Given the description of an element on the screen output the (x, y) to click on. 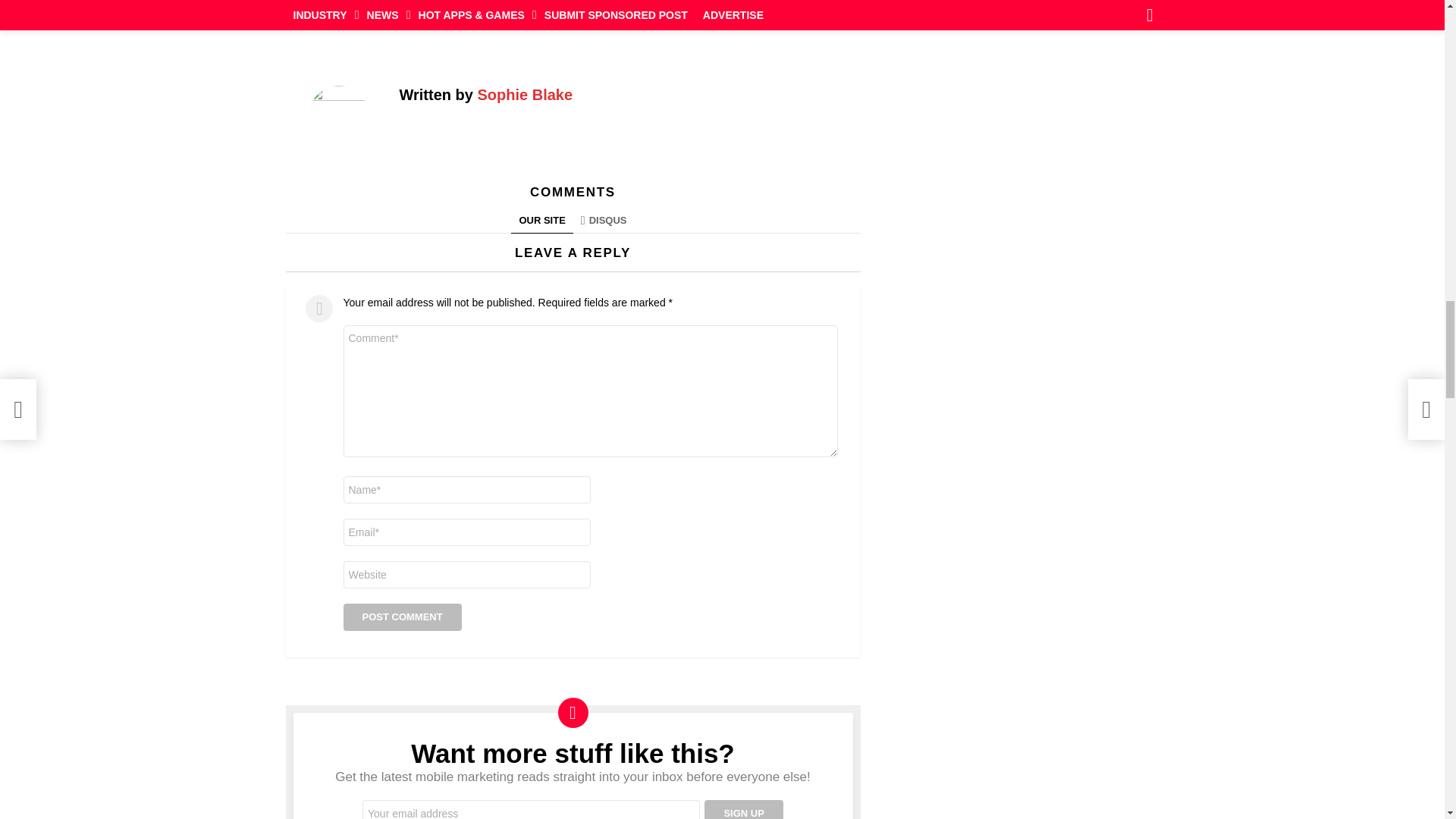
Sign up (743, 809)
Meta rolls out new parental supervision tools on Instagram (539, 13)
Post Comment (401, 616)
